Given the description of an element on the screen output the (x, y) to click on. 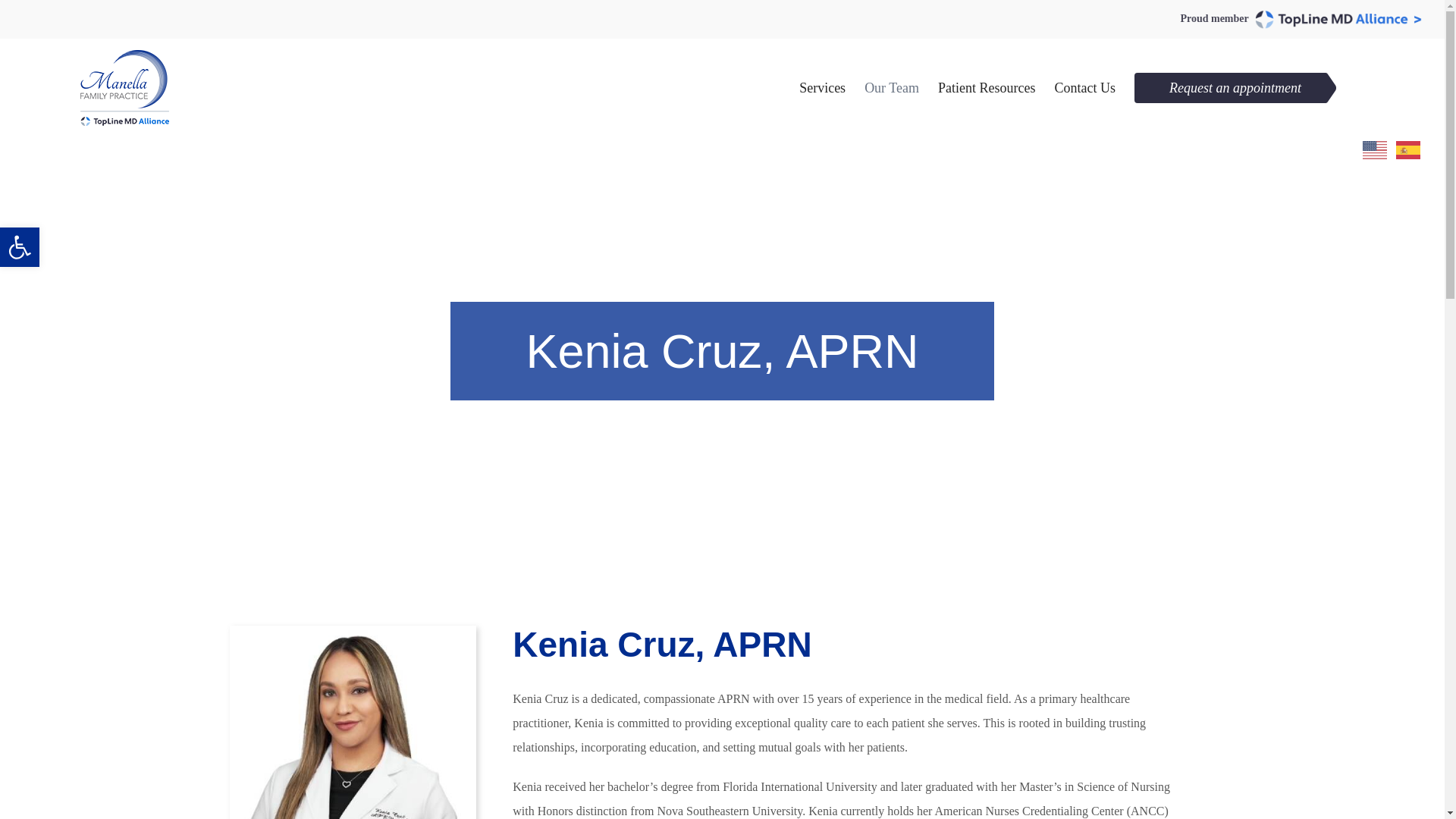
Accessibility Tools (19, 247)
English (19, 246)
Spanish (1375, 149)
Accessibility Tools (1409, 149)
Patient Resources (19, 246)
New Project 3 (986, 87)
Request an appointment (352, 722)
